Given the description of an element on the screen output the (x, y) to click on. 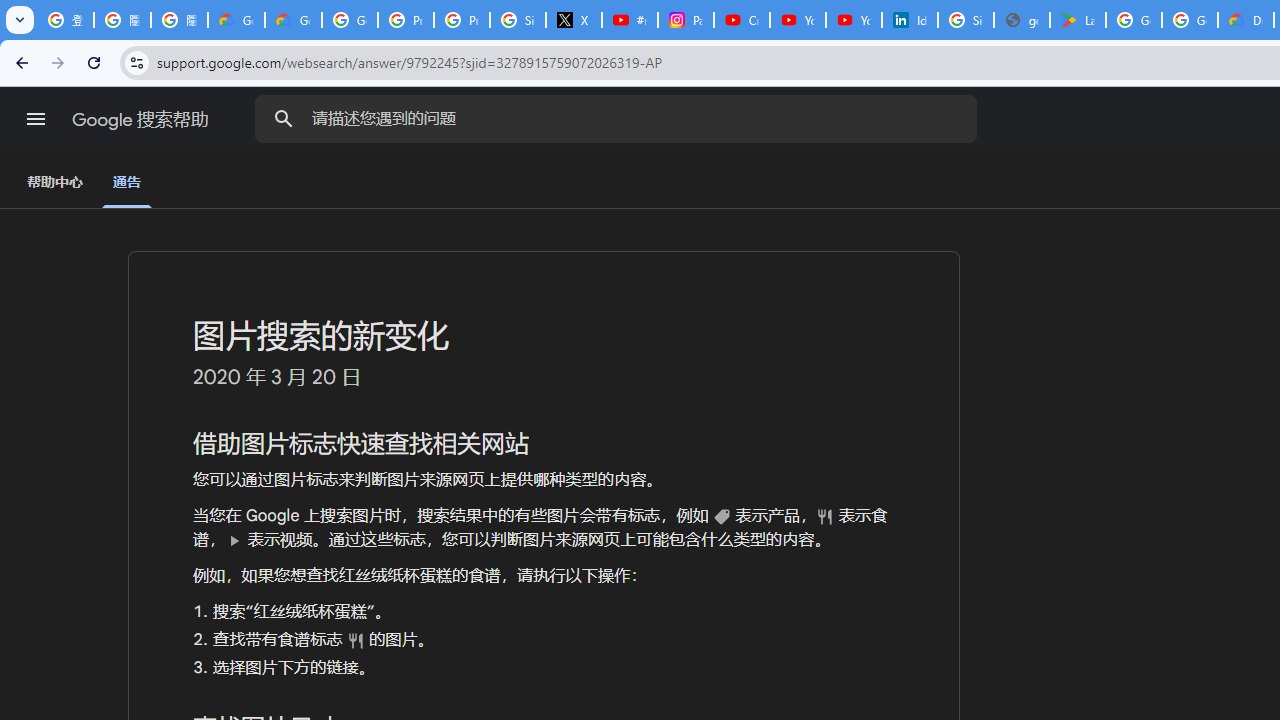
X (573, 20)
Privacy Help Center - Policies Help (461, 20)
YouTube Culture & Trends - YouTube Top 10, 2021 (853, 20)
